Given the description of an element on the screen output the (x, y) to click on. 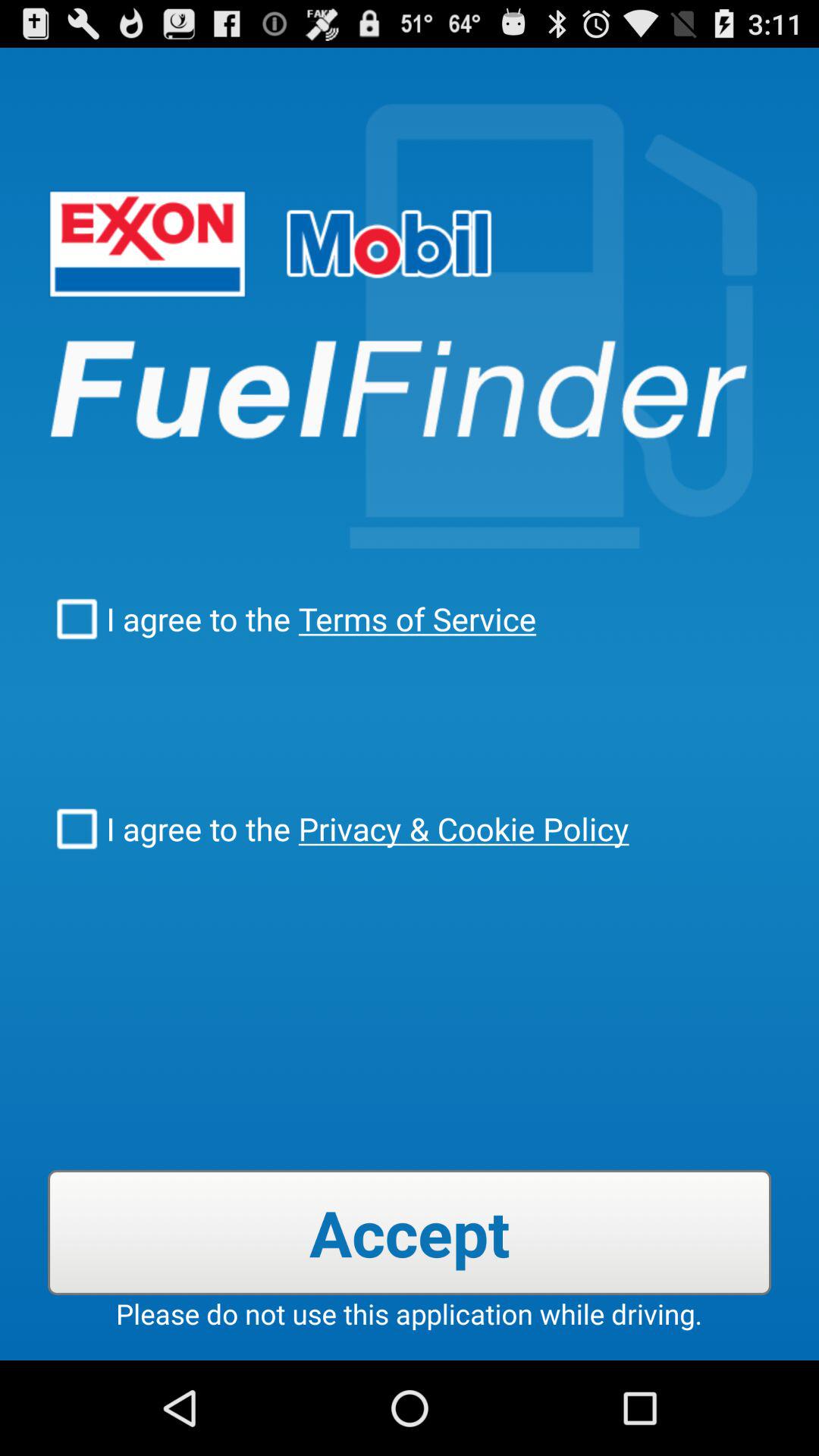
press item below i agree to icon (409, 1232)
